Given the description of an element on the screen output the (x, y) to click on. 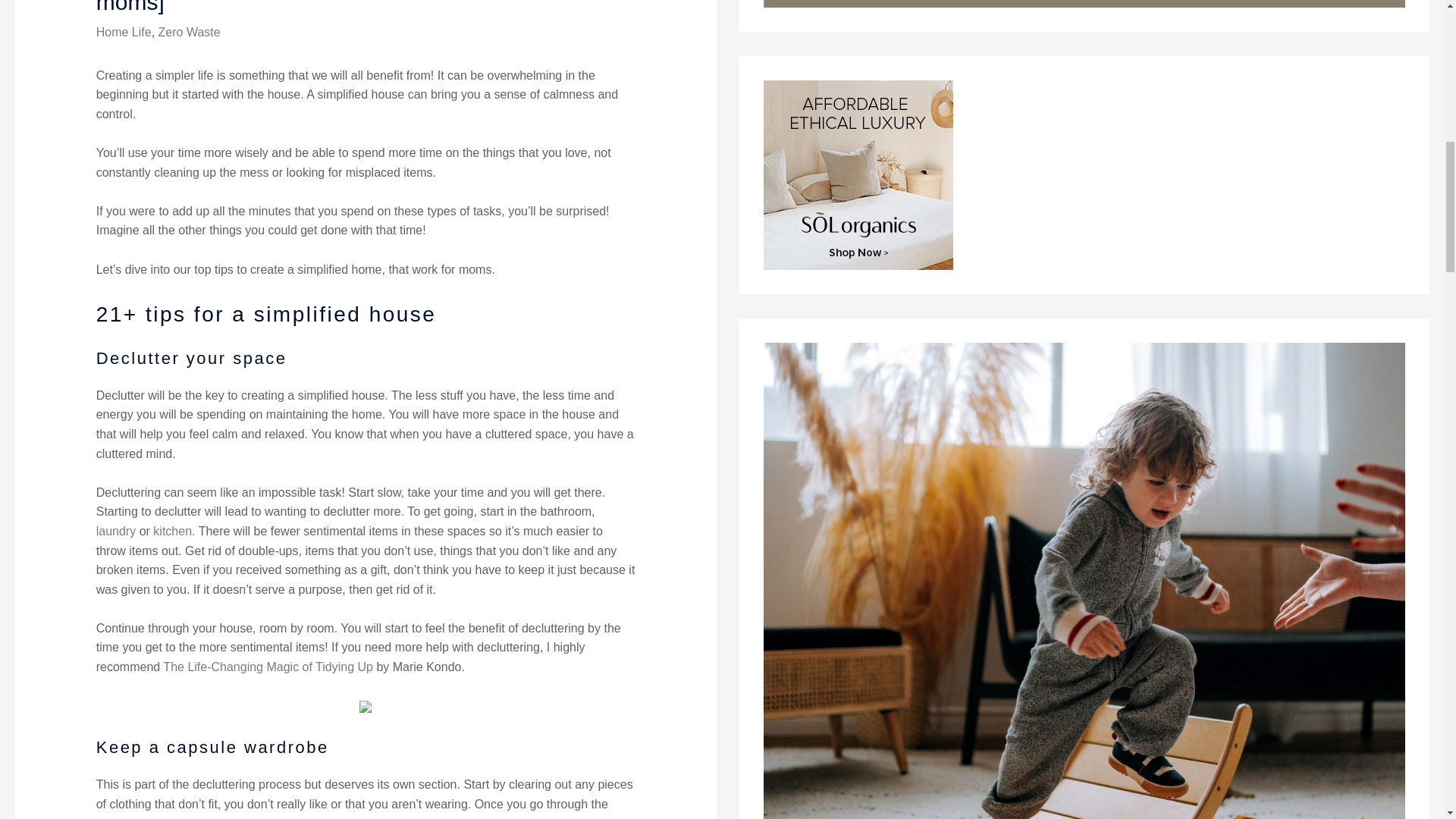
Zero Waste (189, 31)
laundry (115, 530)
Home Life (123, 31)
kitchen. (173, 530)
The Life-Changing Magic of Tidying Up (267, 666)
